Given the description of an element on the screen output the (x, y) to click on. 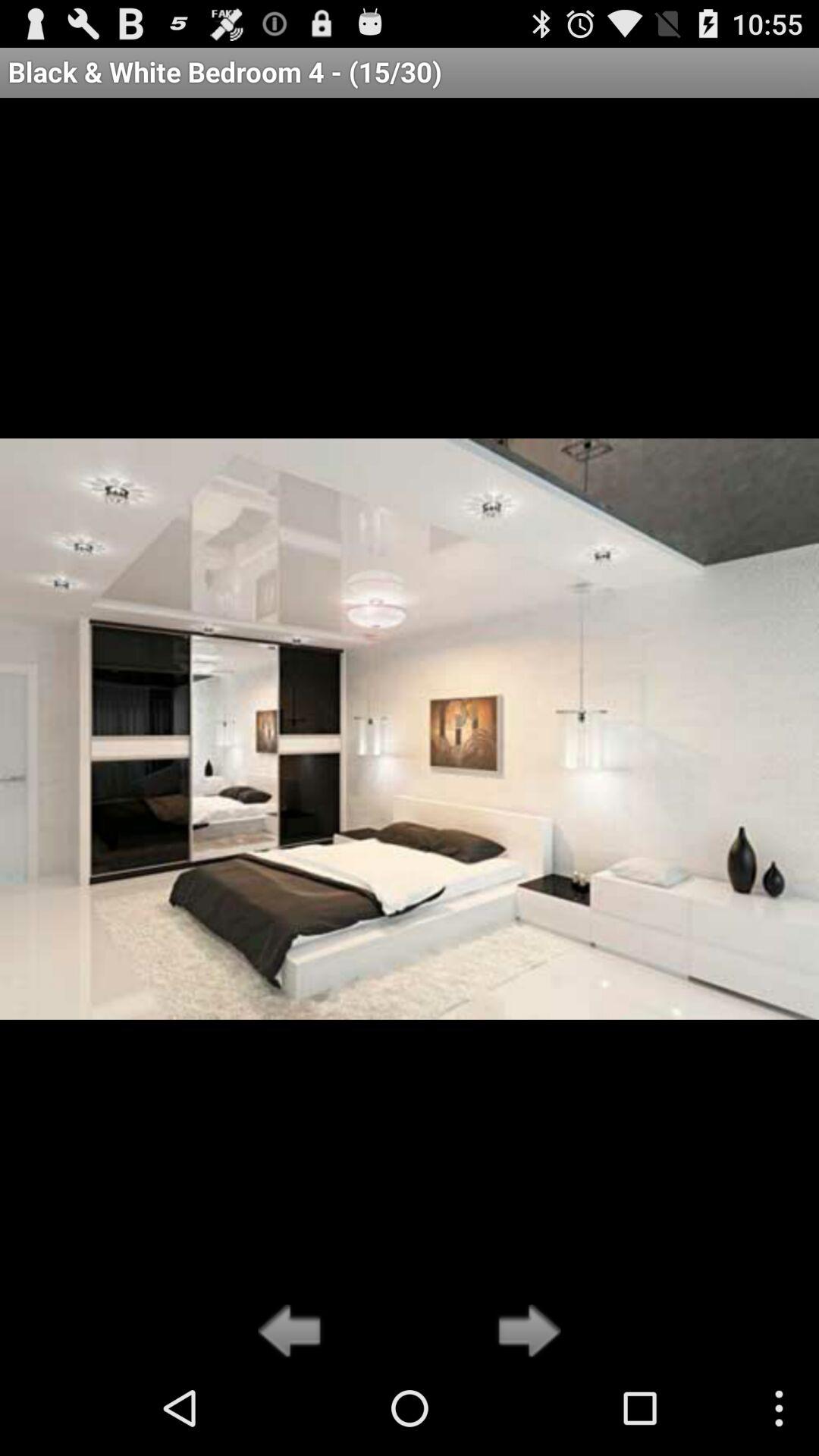
go next (524, 1332)
